Given the description of an element on the screen output the (x, y) to click on. 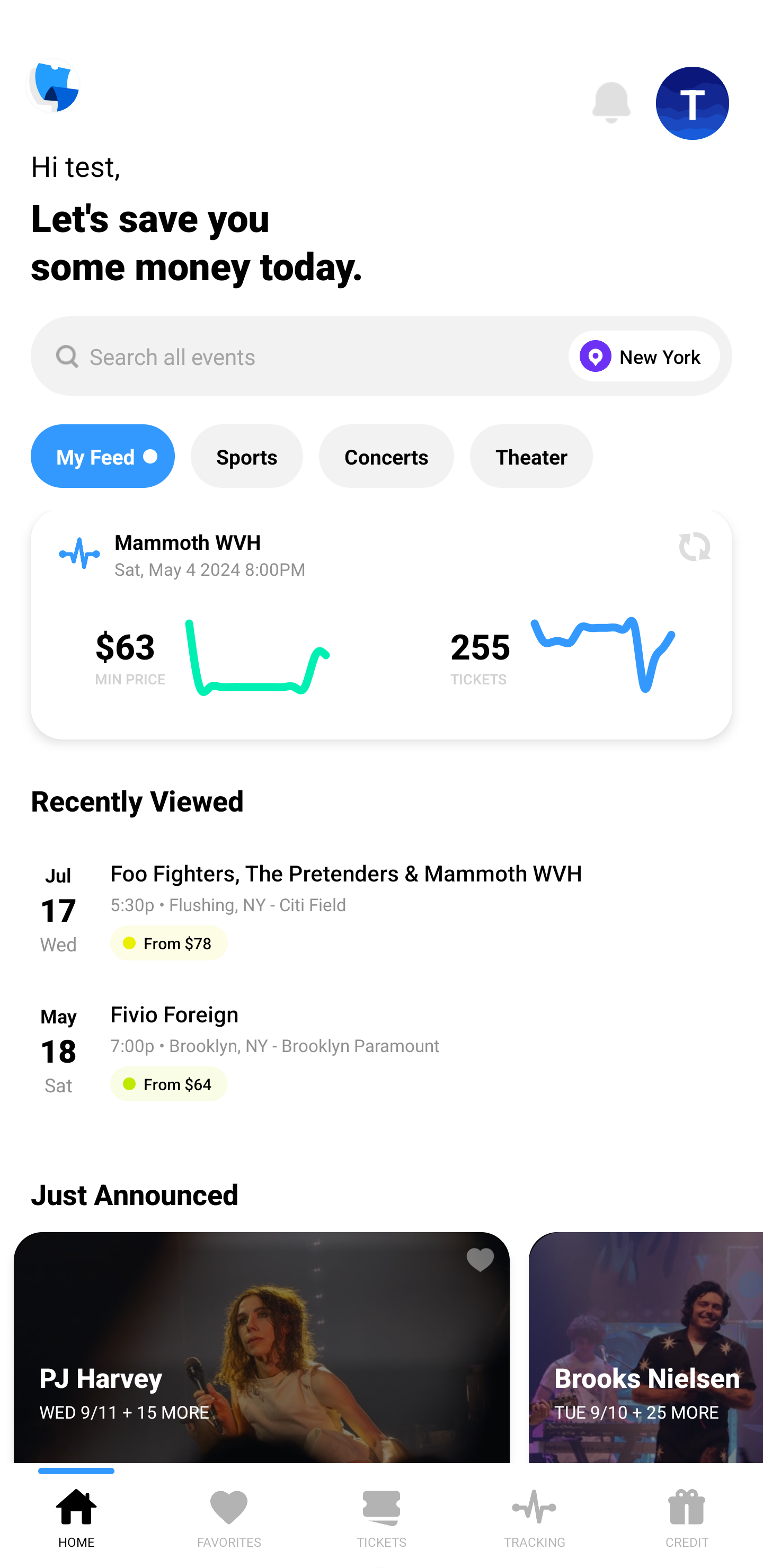
T (692, 103)
New York (640, 355)
My Feed (102, 455)
Sports (246, 455)
Concerts (385, 455)
Theater (531, 455)
HOME (76, 1515)
FAVORITES (228, 1515)
TICKETS (381, 1515)
TRACKING (533, 1515)
CREDIT (686, 1515)
